Given the description of an element on the screen output the (x, y) to click on. 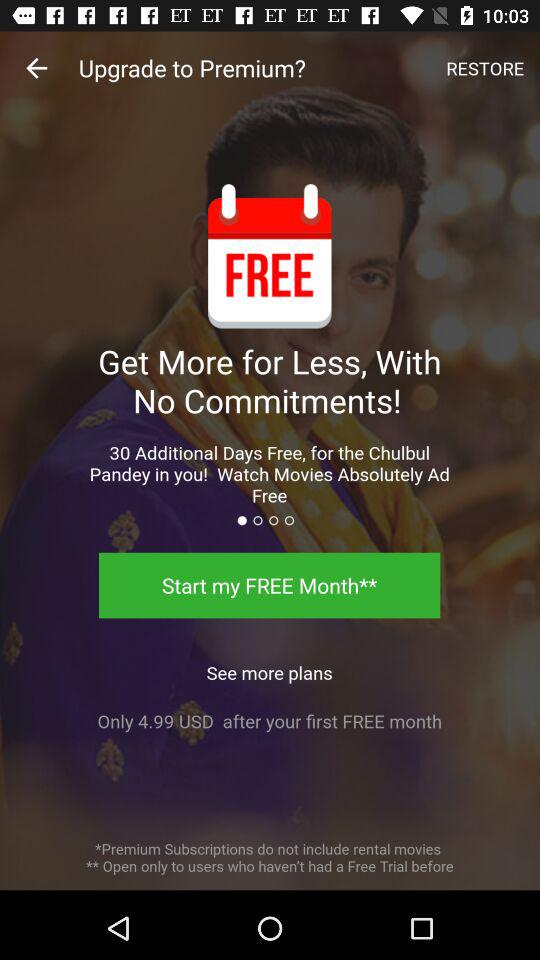
launch the icon below the start my free (269, 667)
